Given the description of an element on the screen output the (x, y) to click on. 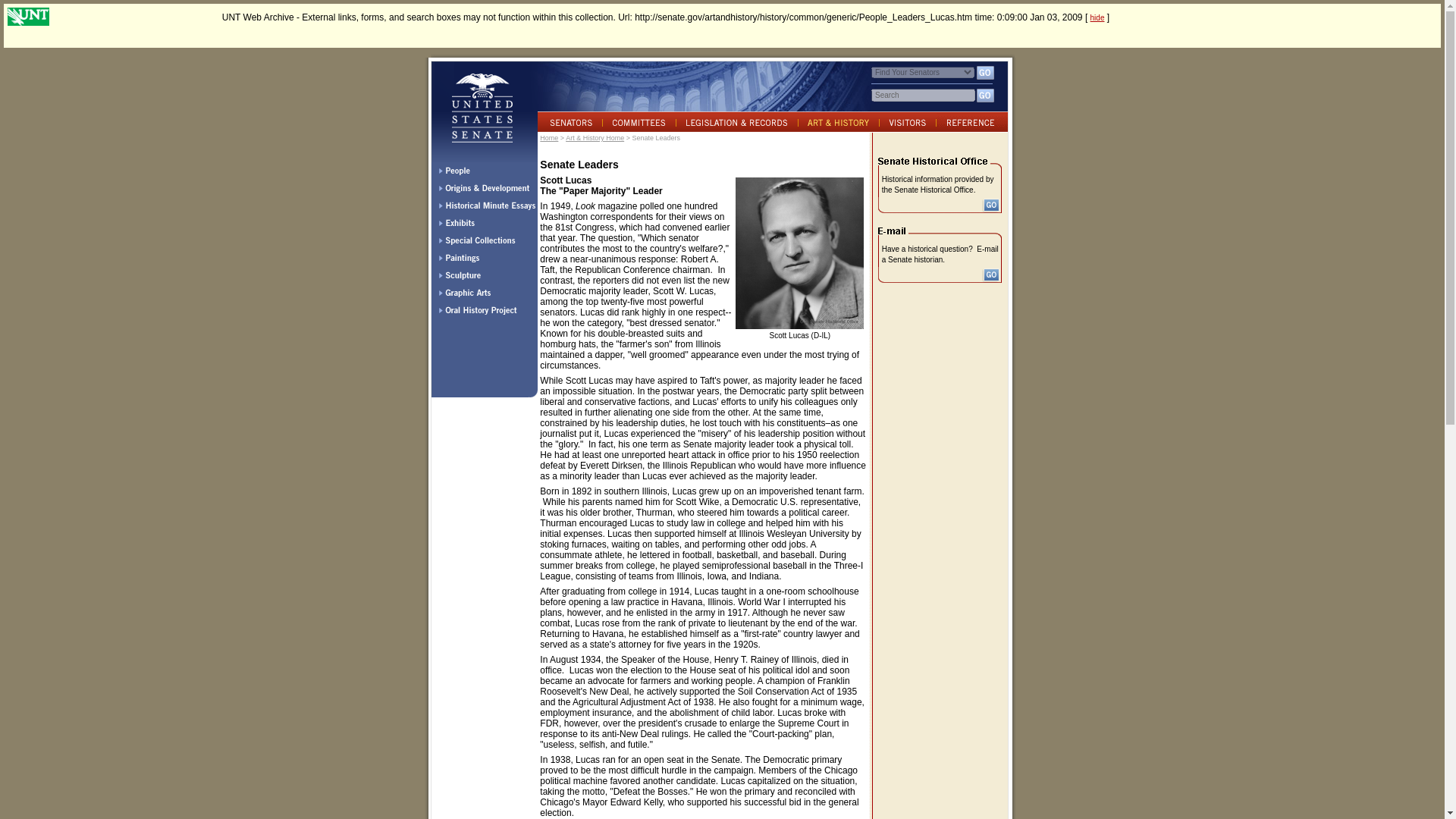
Search (922, 94)
Home (548, 137)
hide (1097, 17)
Search (922, 94)
